Given the description of an element on the screen output the (x, y) to click on. 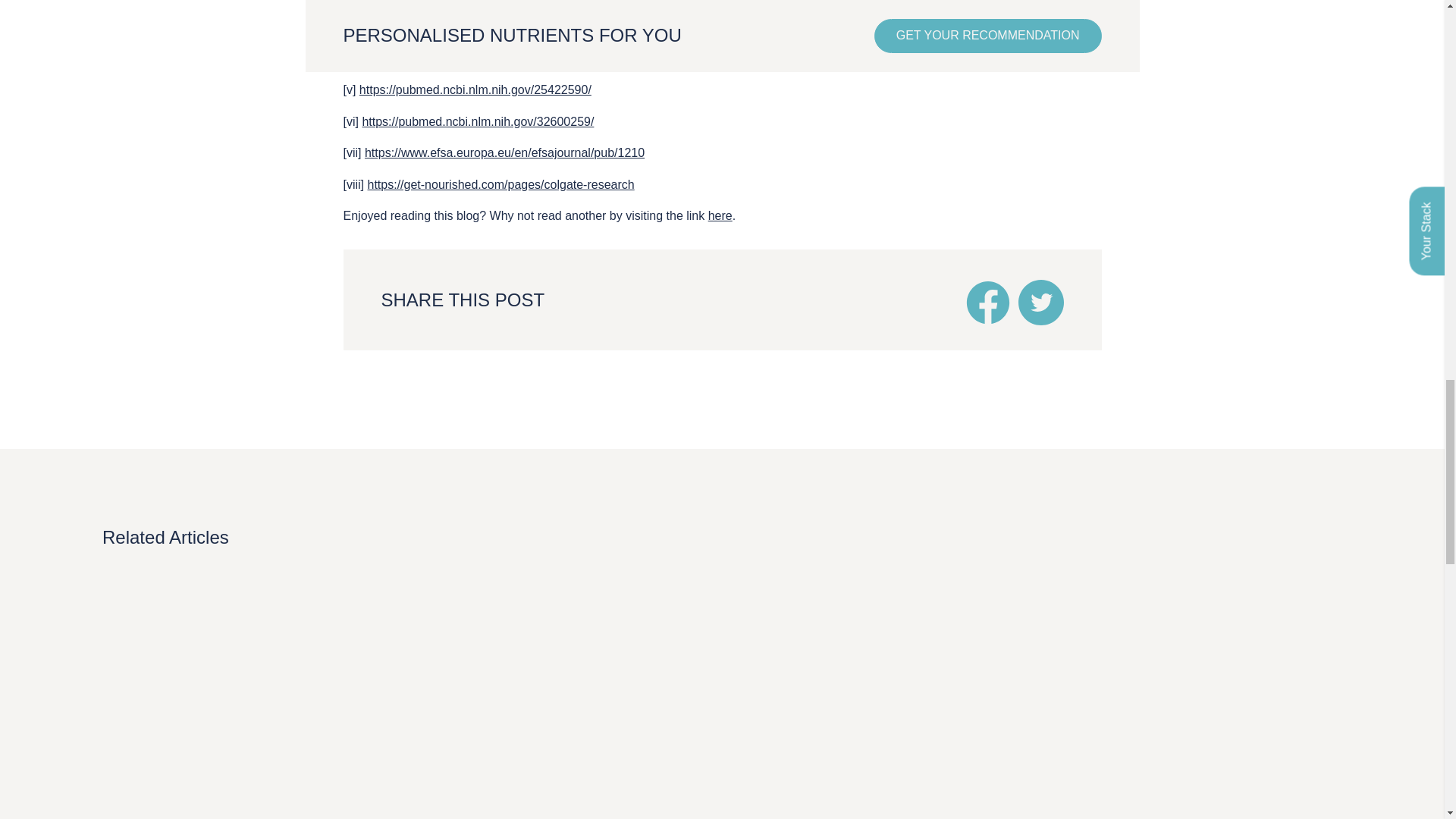
FACEBOOK (986, 302)
